Given the description of an element on the screen output the (x, y) to click on. 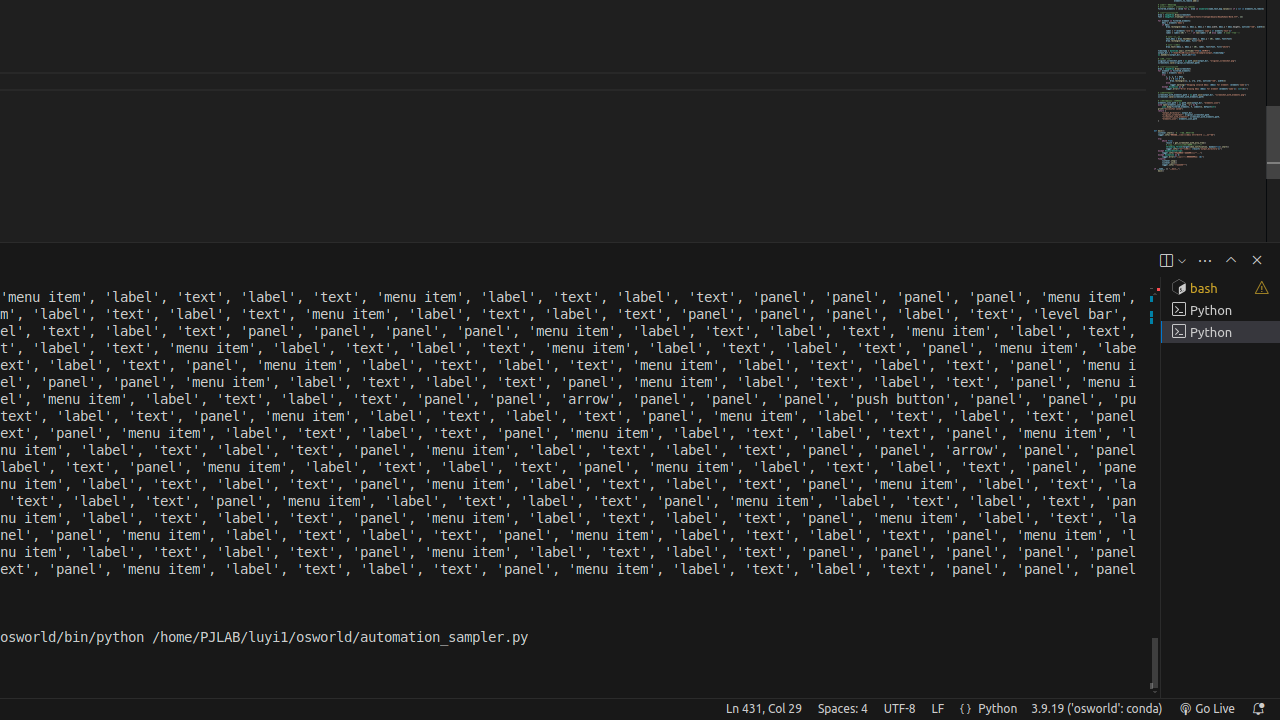
Launch Profile... Element type: push-button (1182, 260)
Editor Language Status: Auto Import Completions: false, next: Type Checking: off Element type: push-button (965, 709)
Terminal 2 Python Element type: list-item (1220, 310)
broadcast Go Live, Click to run live server Element type: push-button (1206, 709)
Views and More Actions... Element type: push-button (1205, 260)
